Given the description of an element on the screen output the (x, y) to click on. 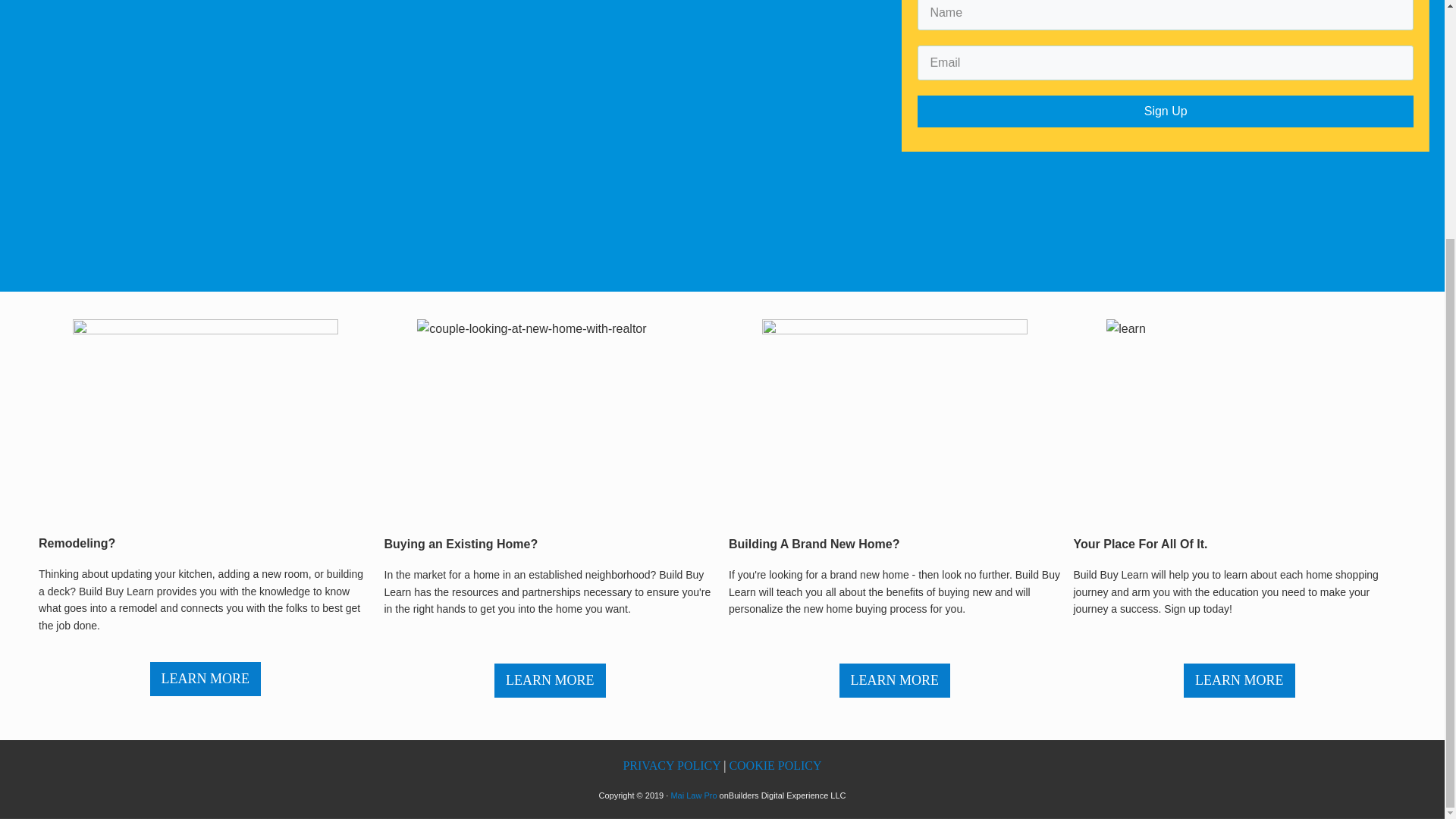
learn (1238, 418)
PRIVACY POLICY (671, 765)
family (894, 418)
Sign Up (1165, 111)
couple-looking-at-new-home-with-realtor (549, 418)
COOKIE POLICY (775, 765)
Mai Law Pro (692, 795)
LEARN MORE (550, 680)
